Given the description of an element on the screen output the (x, y) to click on. 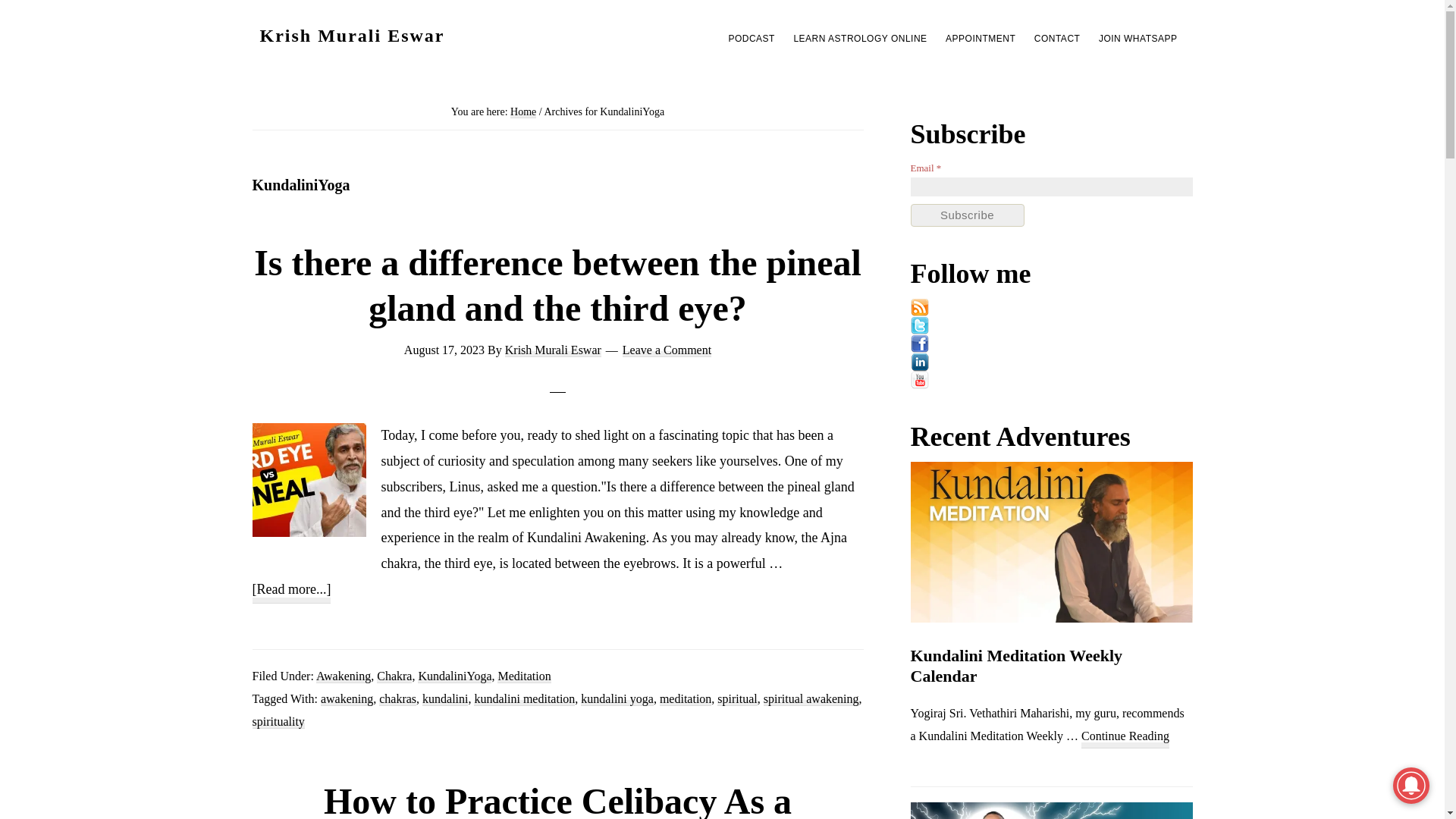
kundalini (444, 698)
chakras (397, 698)
Krish Murali Eswar (553, 350)
Leave a Comment (667, 350)
LEARN ASTROLOGY ONLINE (860, 37)
Krish Murali Eswar (351, 35)
Meditation (523, 675)
KundaliniYoga (454, 675)
Awakening (343, 675)
Home (523, 111)
